Given the description of an element on the screen output the (x, y) to click on. 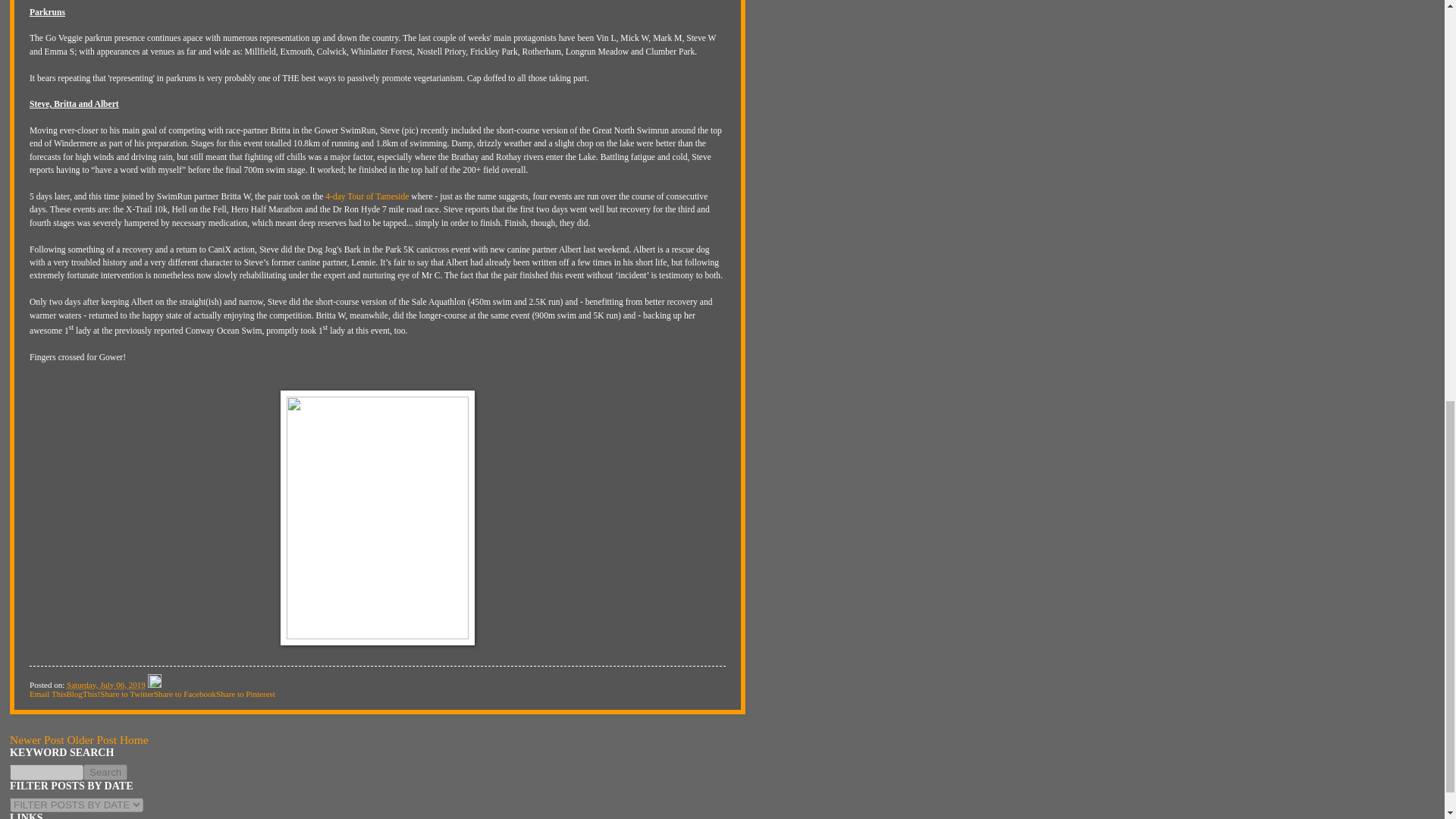
Share to Twitter (127, 693)
Email This (47, 693)
Edit Post (154, 684)
BlogThis! (83, 693)
Share to Facebook (184, 693)
Share to Twitter (127, 693)
4-day Tour of Tameside (366, 196)
Newer Post (37, 739)
Search (105, 772)
Email This (47, 693)
